Given the description of an element on the screen output the (x, y) to click on. 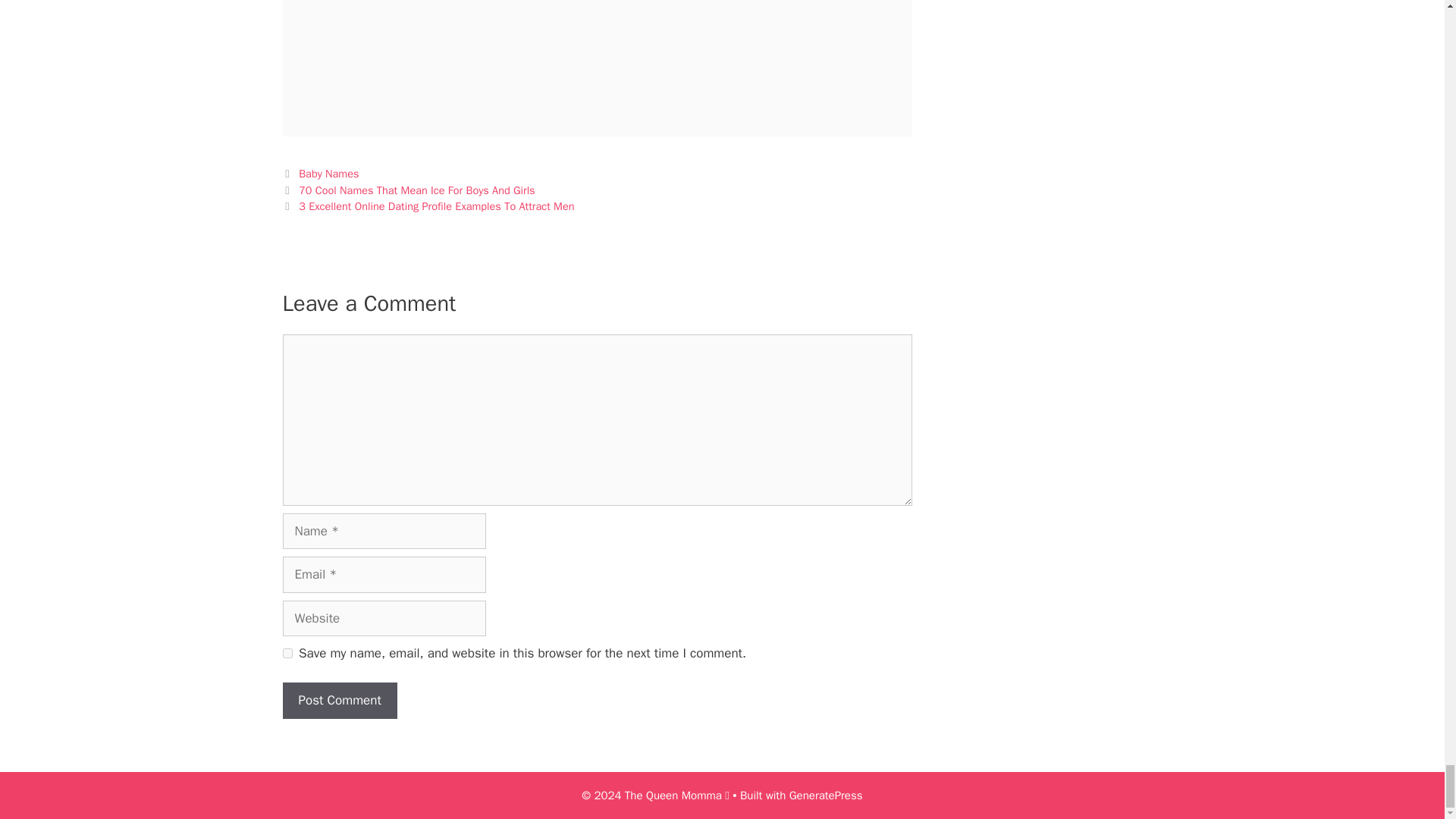
yes (287, 653)
Post Comment (339, 700)
